Given the description of an element on the screen output the (x, y) to click on. 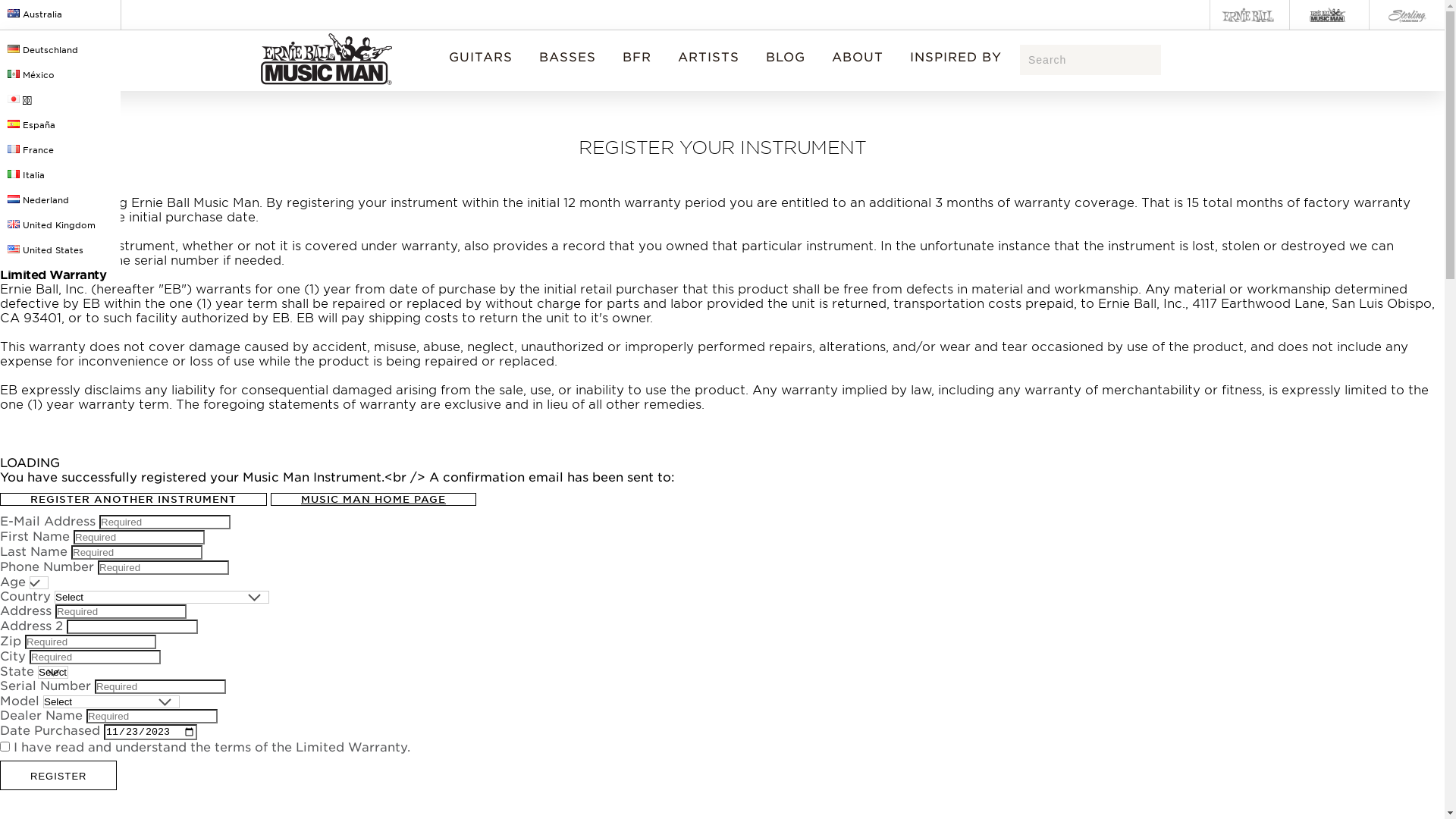
Limited Warranty Element type: text (351, 747)
BLOG Element type: text (785, 61)
BASSES Element type: text (567, 61)
Italia Element type: text (59, 175)
BFR Element type: text (636, 61)
United States Element type: text (59, 250)
Nederland Element type: text (59, 200)
United Kingdom Element type: text (59, 225)
REGISTER ANOTHER INSTRUMENT Element type: text (133, 498)
ABOUT Element type: text (857, 61)
ARTISTS Element type: text (708, 61)
INSPIRED BY Element type: text (955, 61)
France Element type: text (59, 150)
GUITARS Element type: text (480, 61)
MUSIC MAN HOME PAGE Element type: text (373, 498)
Register Element type: text (58, 775)
Deutschland Element type: text (59, 50)
